Given the description of an element on the screen output the (x, y) to click on. 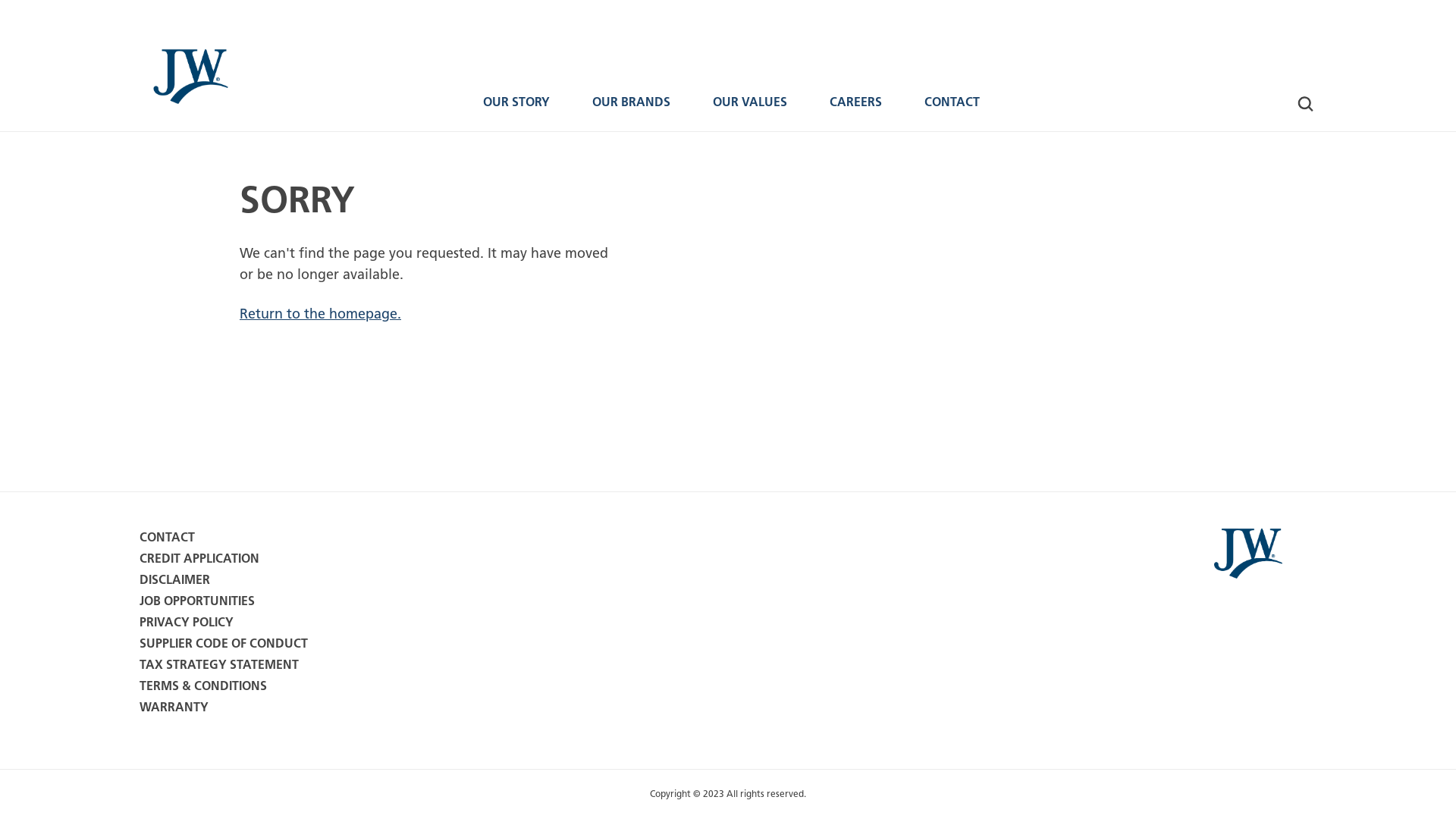
CONTACT Element type: text (166, 537)
SUPPLIER CODE OF CONDUCT Element type: text (223, 643)
TERMS & CONDITIONS Element type: text (202, 686)
WARRANTY Element type: text (173, 707)
OUR VALUES Element type: text (749, 109)
JOB OPPORTUNITIES Element type: text (196, 601)
DISCLAIMER Element type: text (174, 579)
Return to the homepage. Element type: text (320, 313)
TAX STRATEGY STATEMENT Element type: text (218, 664)
CREDIT APPLICATION Element type: text (199, 558)
CAREERS Element type: text (855, 109)
CONTACT Element type: text (951, 109)
PRIVACY POLICY Element type: text (186, 622)
OUR BRANDS Element type: text (630, 109)
OUR STORY Element type: text (515, 109)
